Given the description of an element on the screen output the (x, y) to click on. 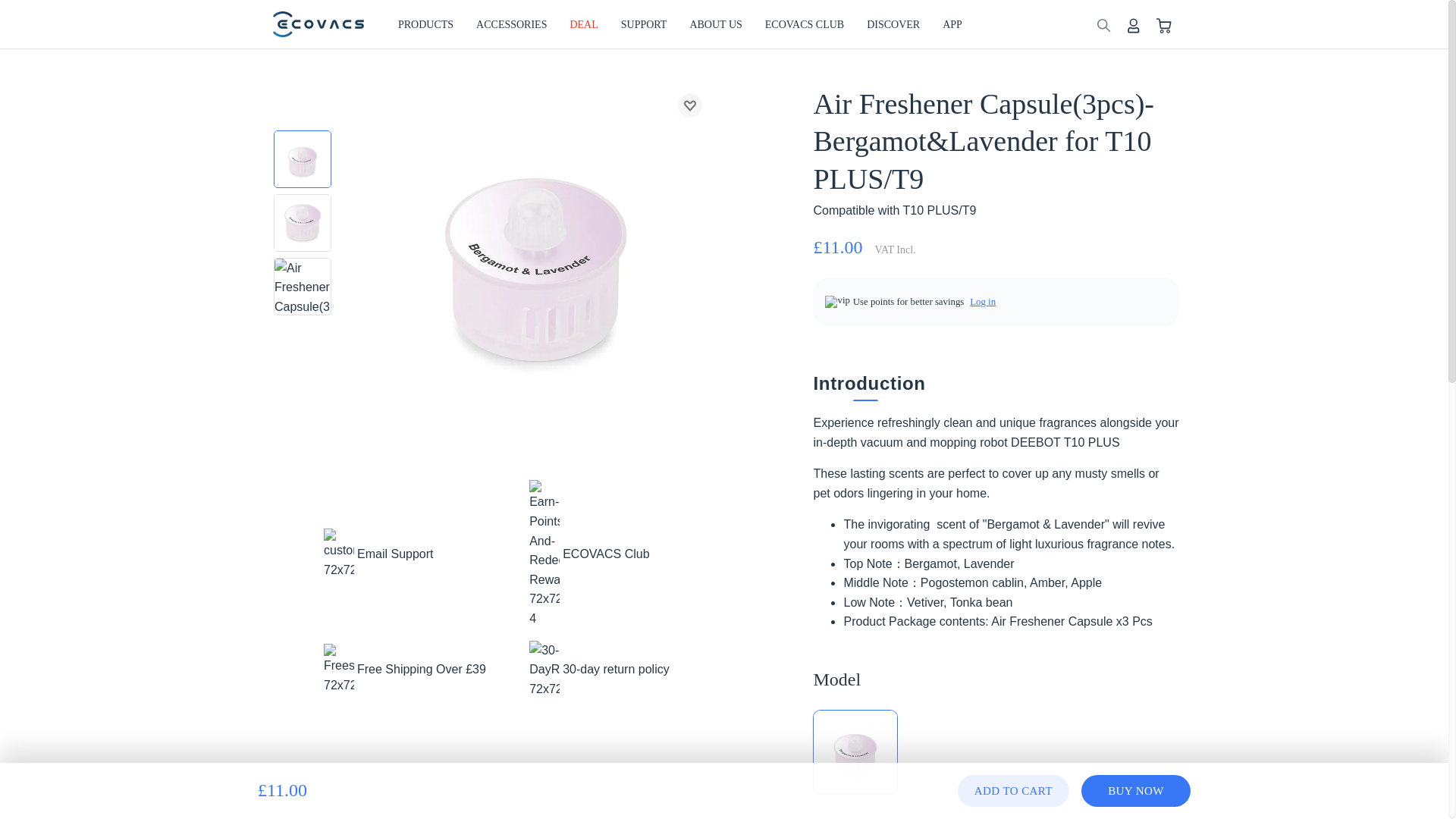
SUPPORT (643, 24)
Introduction (986, 381)
ACCESSORIES (511, 24)
